Given the description of an element on the screen output the (x, y) to click on. 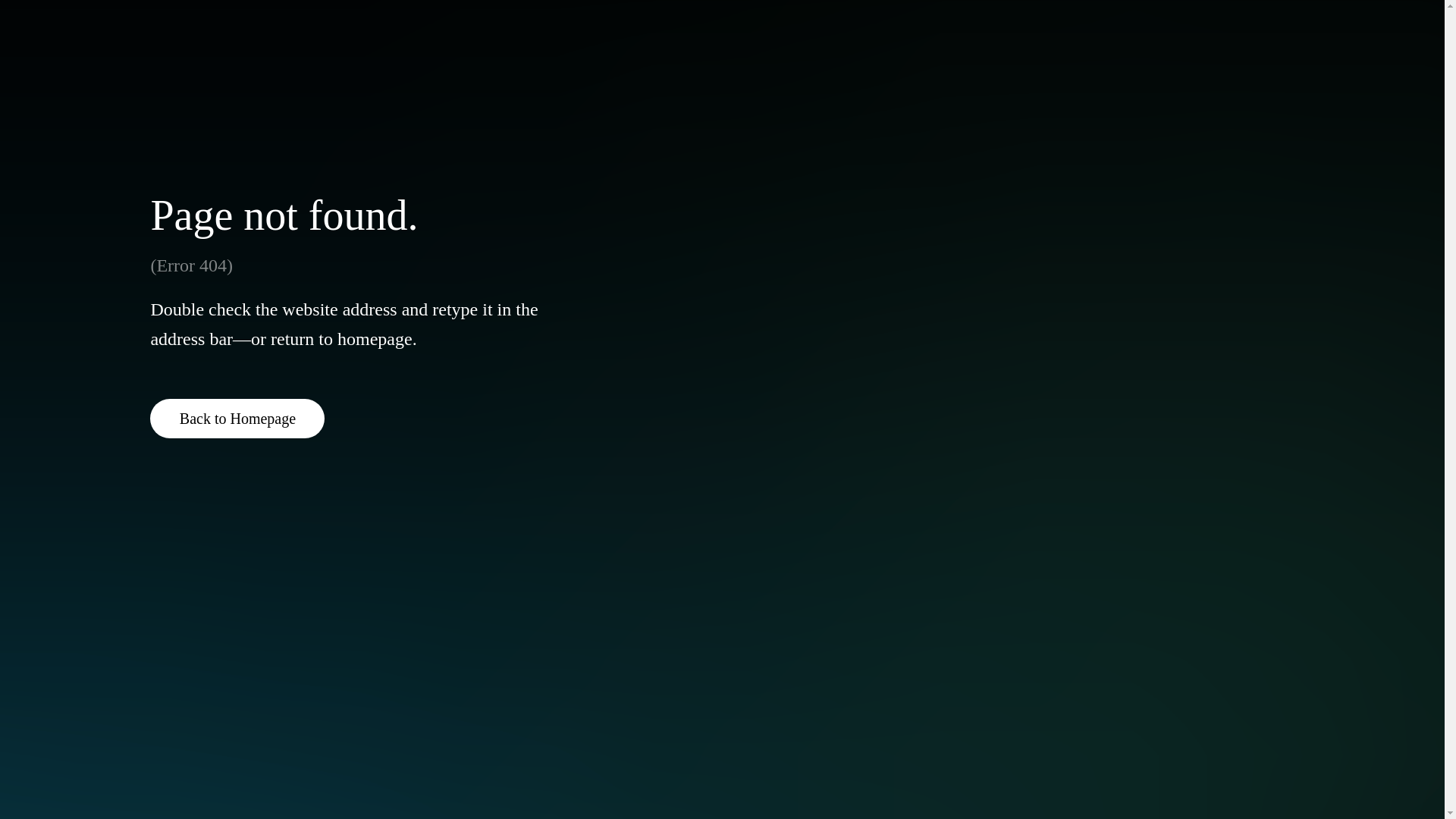
Back to Homepage (236, 418)
